Given the description of an element on the screen output the (x, y) to click on. 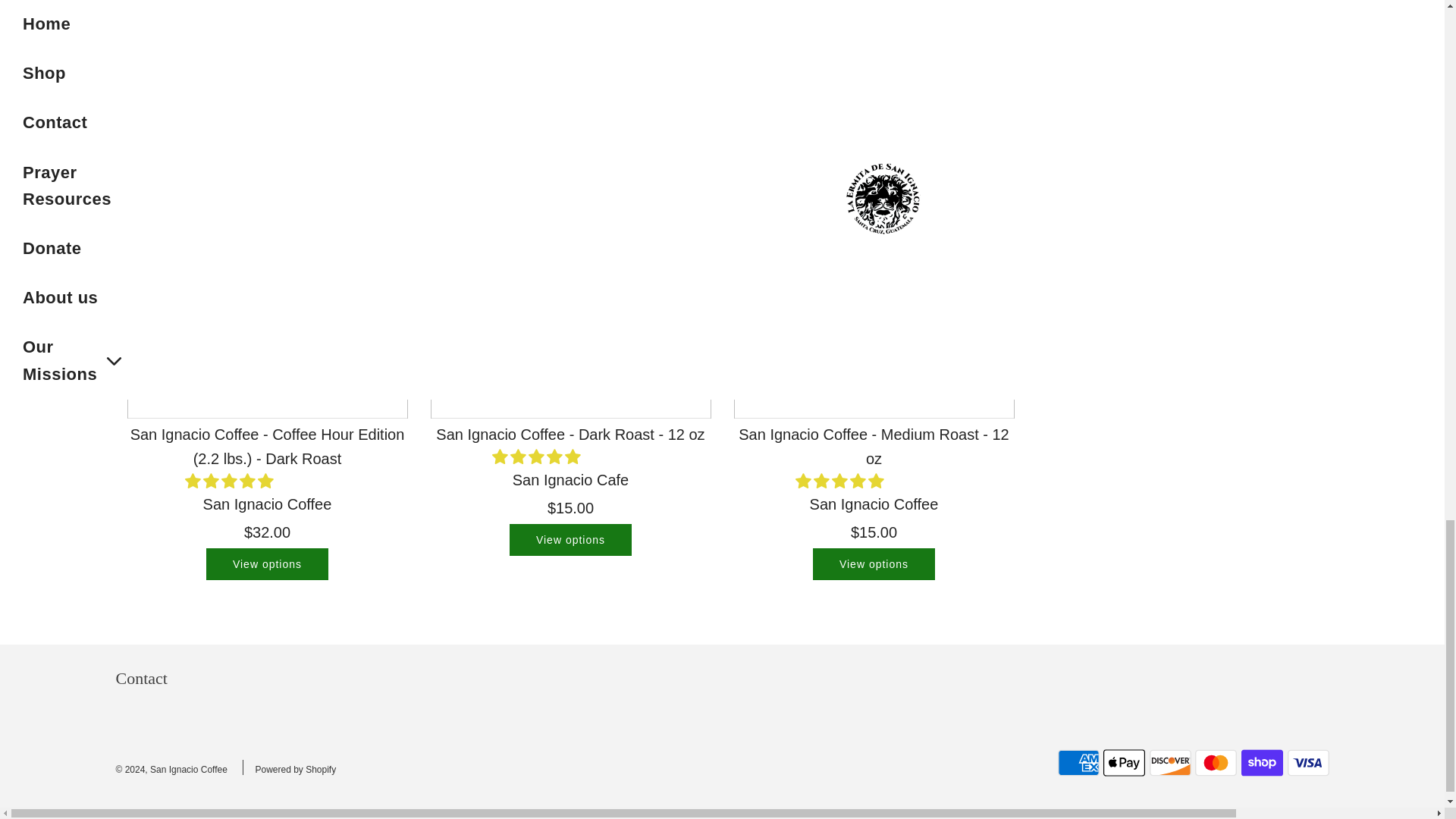
Shop Pay (1261, 762)
Apple Pay (1123, 762)
Discover (1170, 762)
American Express (1078, 762)
Visa (1308, 762)
Mastercard (1215, 762)
